Given the description of an element on the screen output the (x, y) to click on. 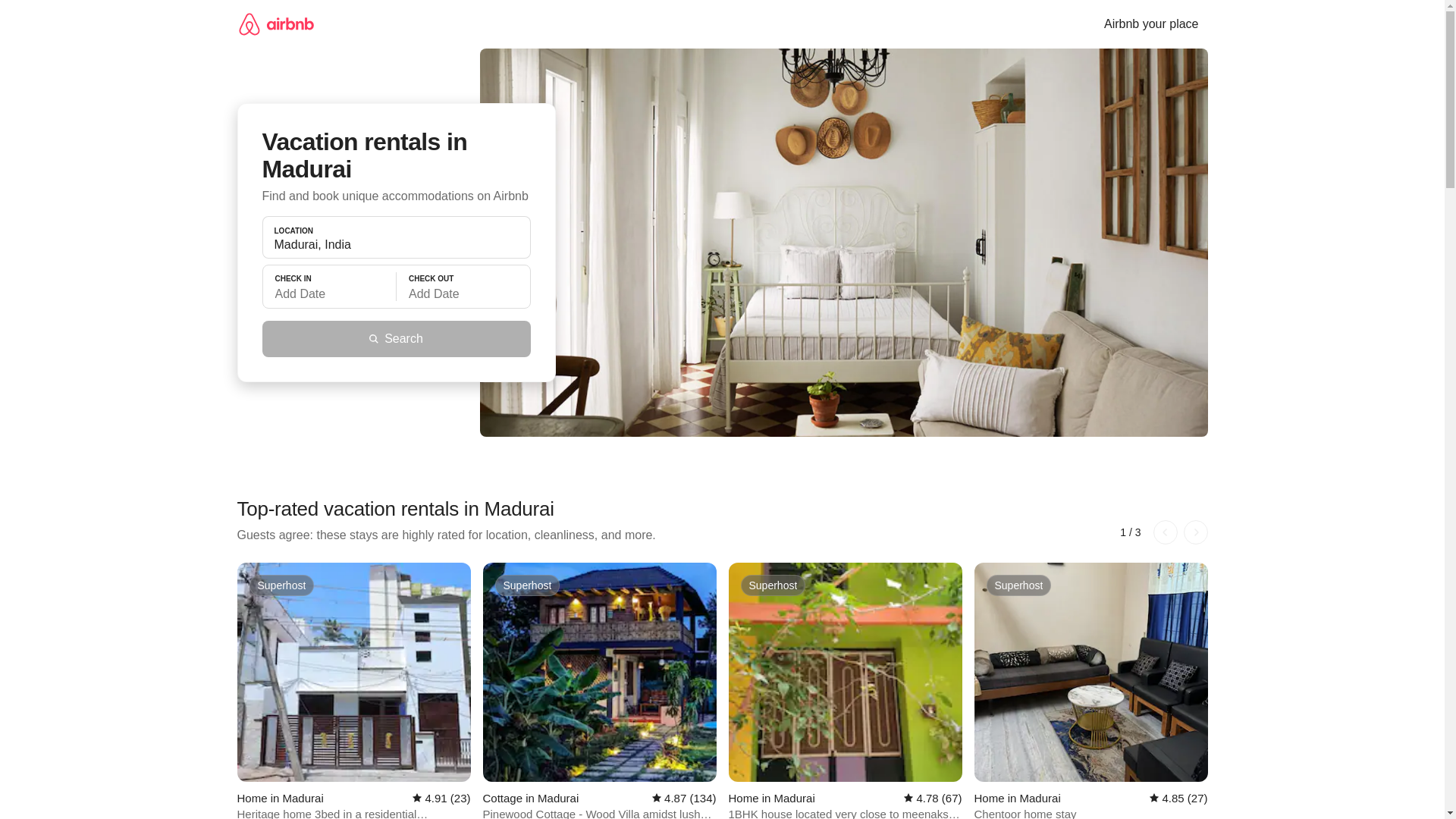
Airbnb your place (1151, 23)
Madurai, India (396, 244)
Search (396, 339)
